Given the description of an element on the screen output the (x, y) to click on. 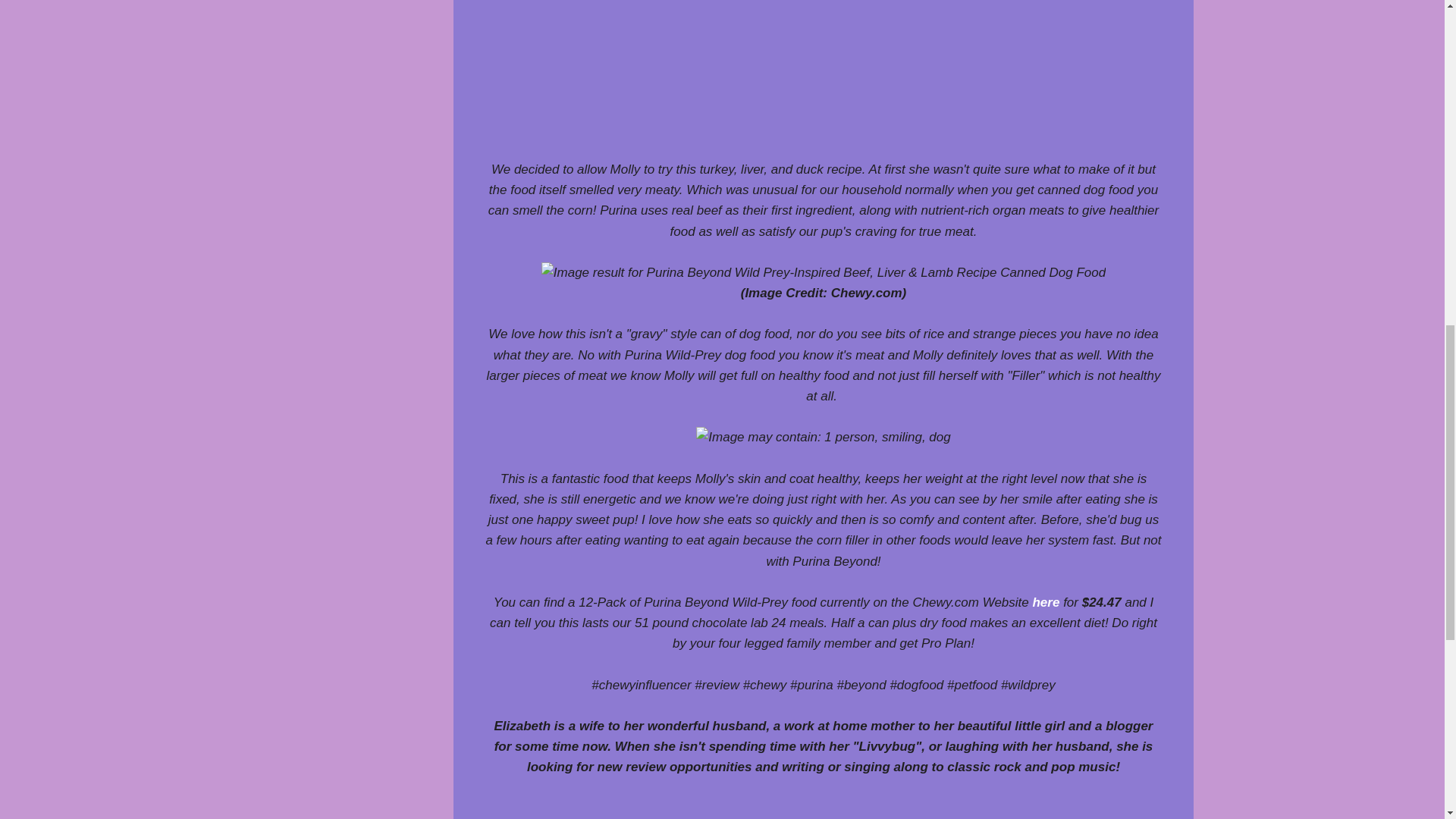
Reviews (620, 816)
Pets (572, 816)
Dogs (531, 816)
here (1045, 602)
